Given the description of an element on the screen output the (x, y) to click on. 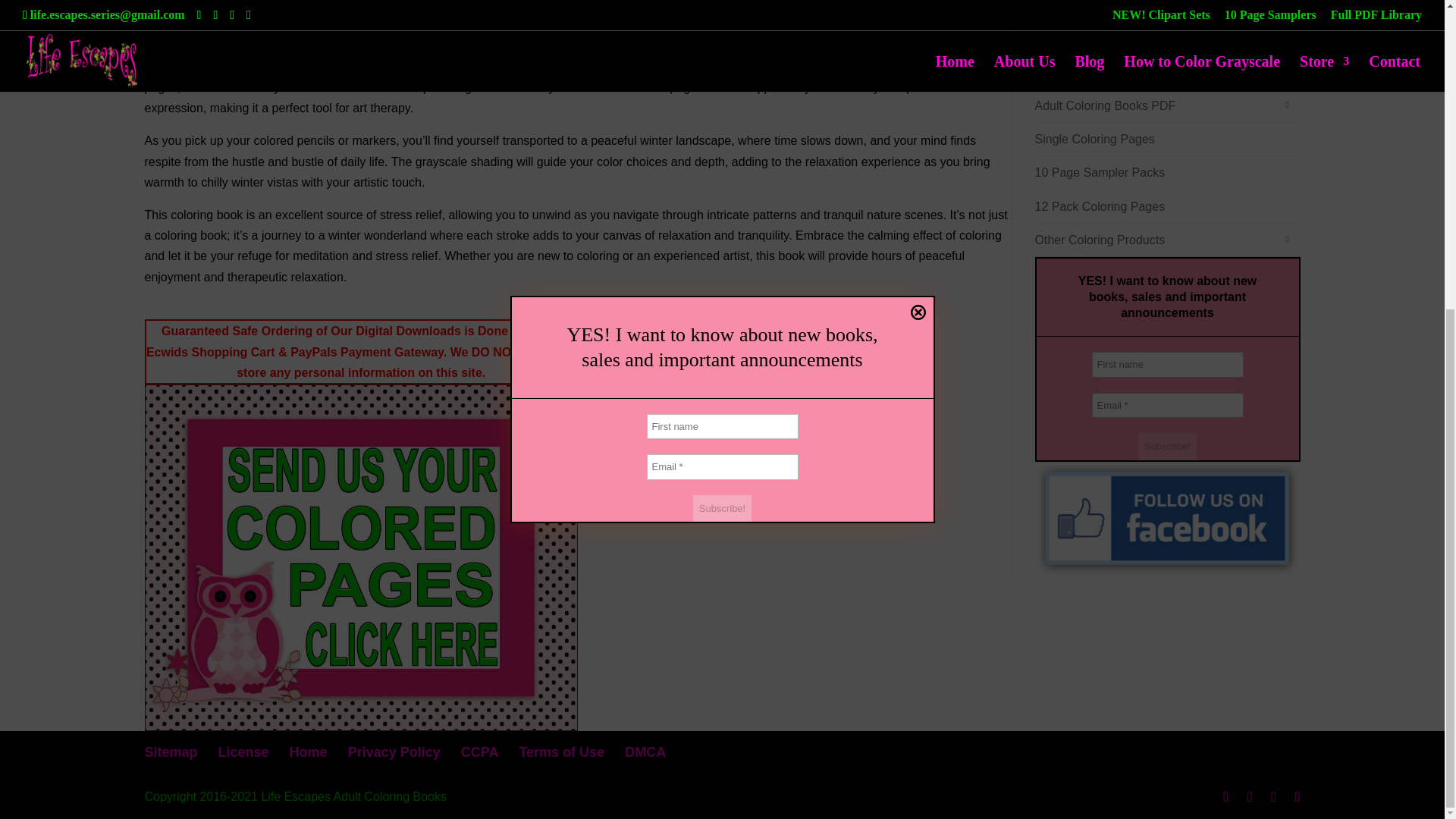
Subscribe! (1167, 446)
Email (1167, 405)
Subscribe! (722, 17)
First name (1167, 364)
